Given the description of an element on the screen output the (x, y) to click on. 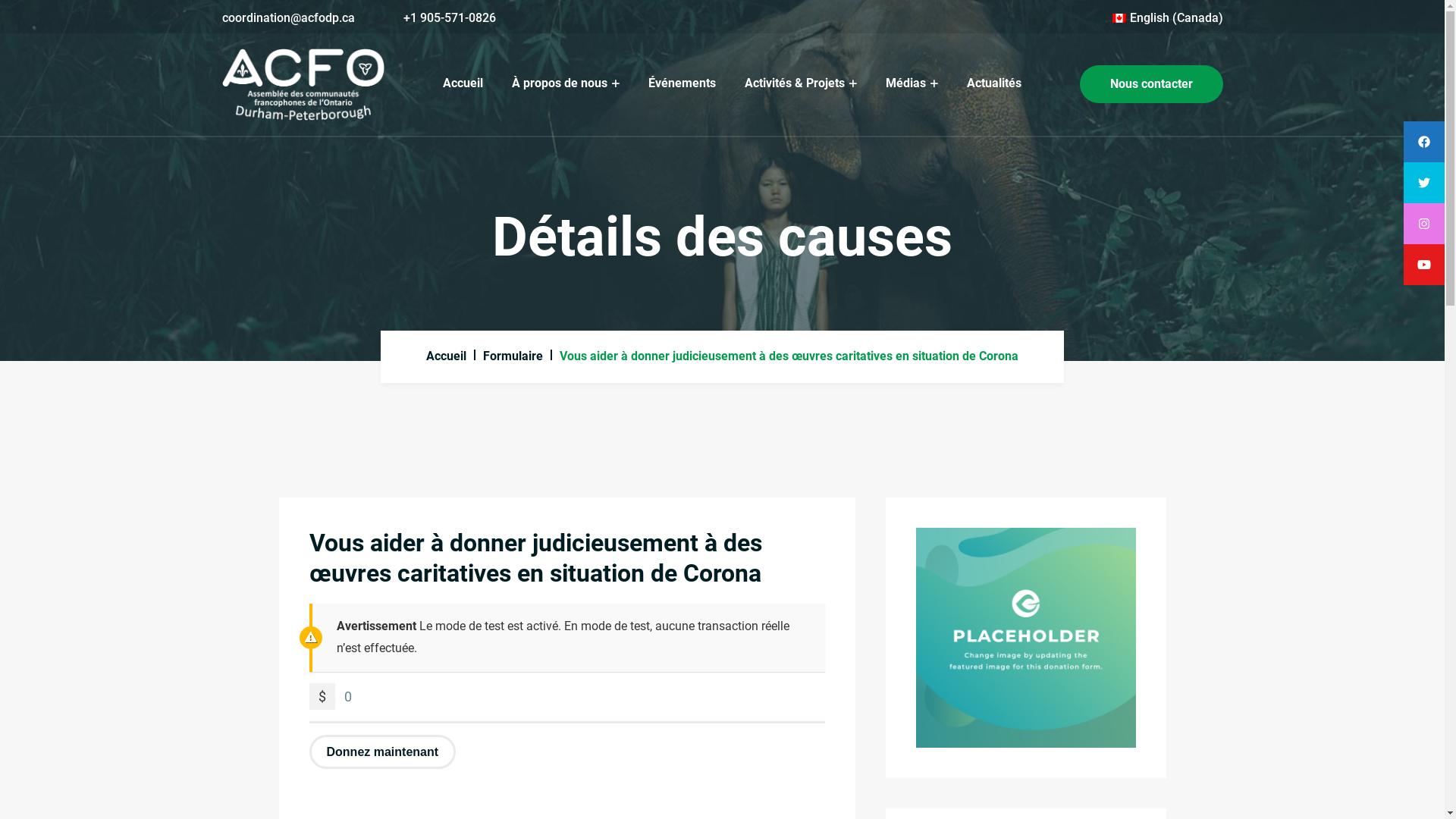
Formulaire Element type: text (512, 355)
English (Canada) Element type: text (1165, 17)
coordination@acfodp.ca Element type: text (287, 17)
+1 905-571-0826 Element type: text (449, 17)
English (Canada) Element type: hover (1118, 17)
Nous contacter Element type: text (1151, 84)
ACFODP Element type: hover (302, 84)
Accueil Element type: text (462, 83)
Donnez maintenant Element type: text (382, 751)
Accueil Element type: text (446, 355)
